Given the description of an element on the screen output the (x, y) to click on. 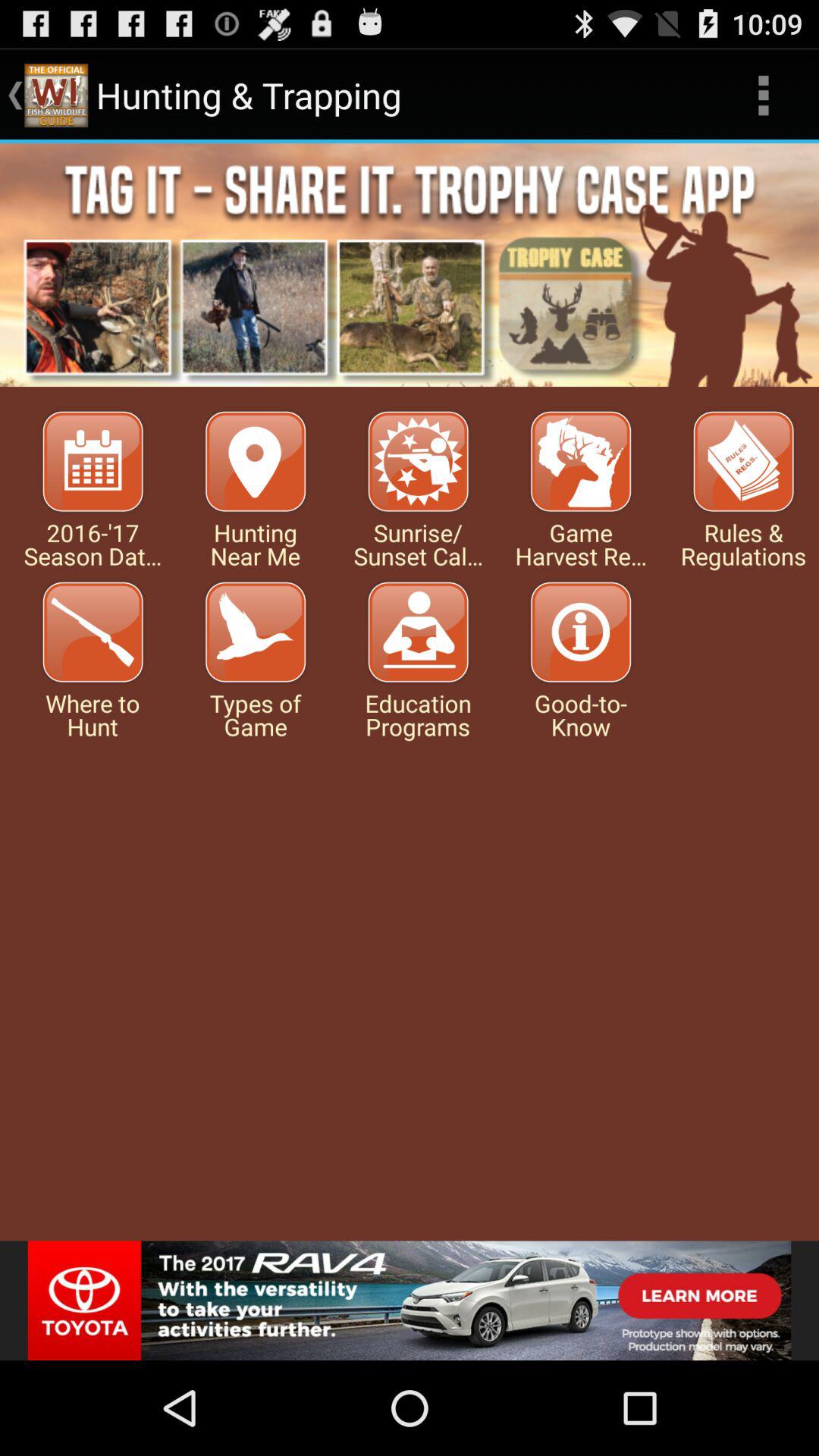
open advertisement (409, 1300)
